Given the description of an element on the screen output the (x, y) to click on. 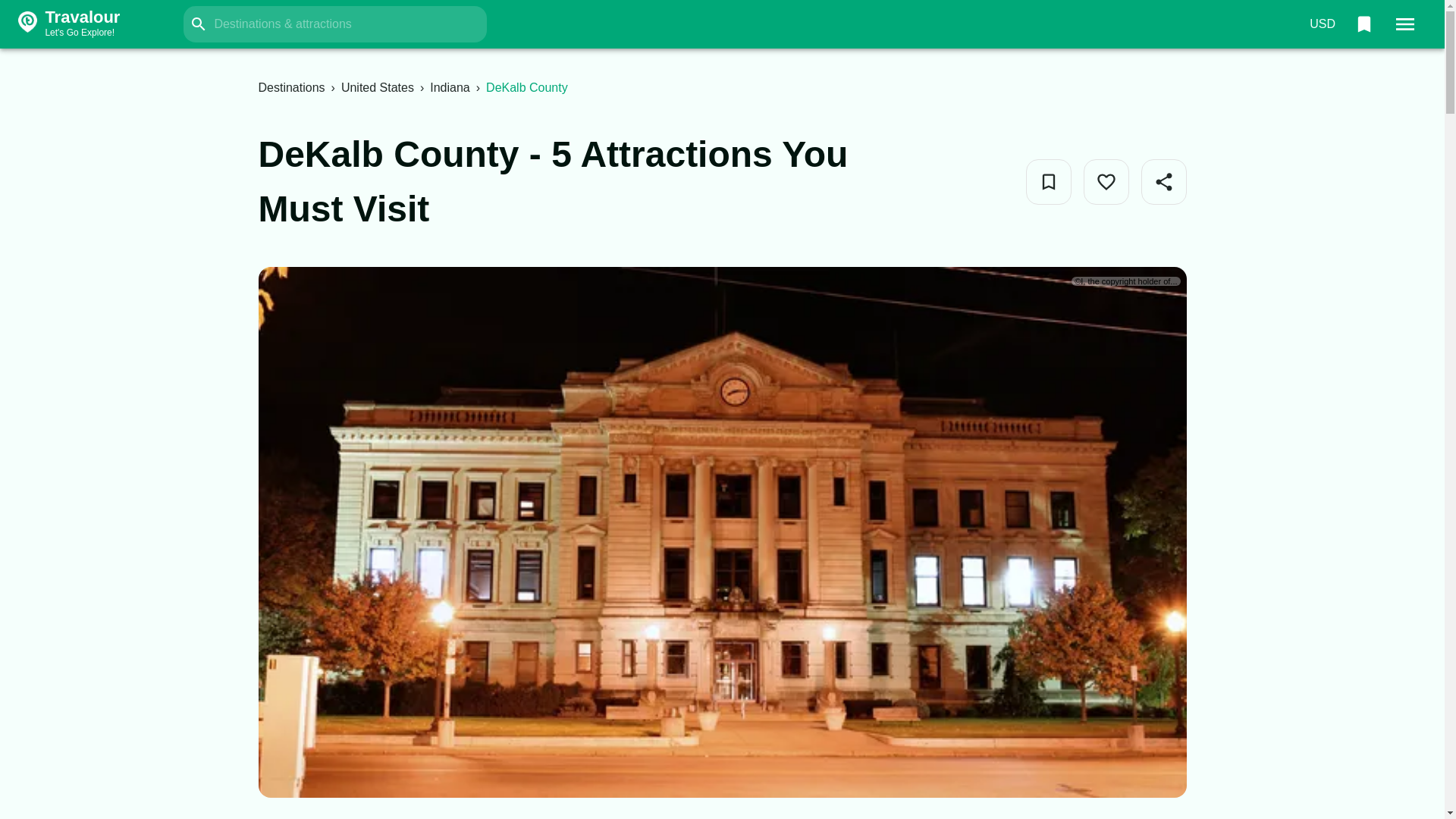
USD (1321, 23)
Add to Bucket List (1047, 181)
0 (1363, 24)
Destinations (290, 87)
Indiana (449, 87)
United States (376, 87)
Like (1105, 181)
Share (97, 23)
